Given the description of an element on the screen output the (x, y) to click on. 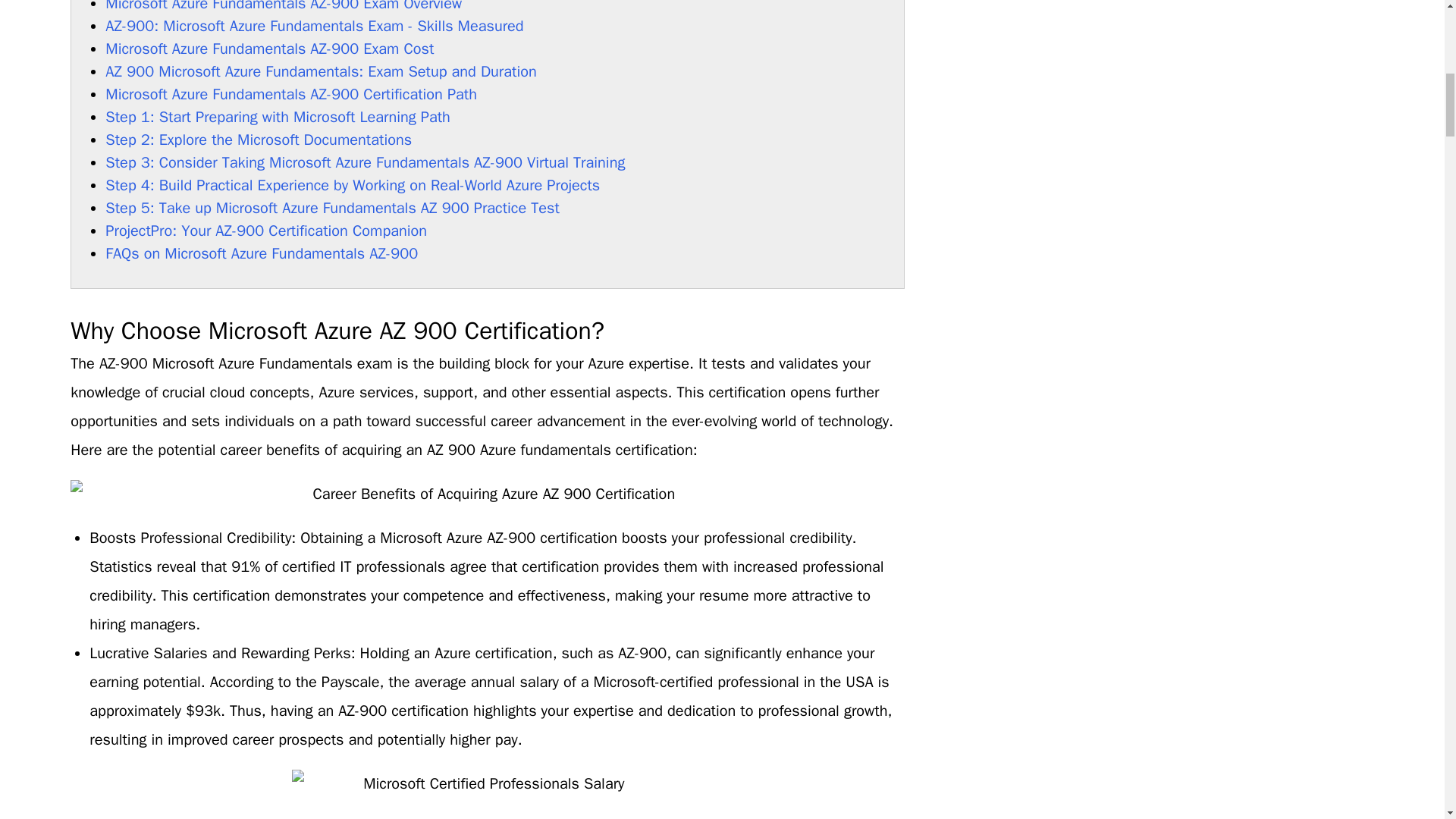
Microsoft Azure Fundamentals AZ-900 Exam Cost  (271, 48)
Microsoft Certified Professionals Salary (488, 794)
ProjectPro: Your AZ-900 Certification Companion (265, 230)
Step 2: Explore the Microsoft Documentations (258, 139)
Step 1: Start Preparing with Microsoft Learning Path  (279, 116)
FAQs on Microsoft Azure Fundamentals AZ-900 (260, 253)
Microsoft Azure Fundamentals AZ-900 Exam Overview  (284, 6)
Career Benefits of Acquiring Azure AZ 900 Certification (486, 493)
Microsoft Azure Fundamentals AZ-900 Certification Path (290, 94)
AZ-900: Microsoft Azure Fundamentals Exam - Skills Measured  (315, 26)
